Given the description of an element on the screen output the (x, y) to click on. 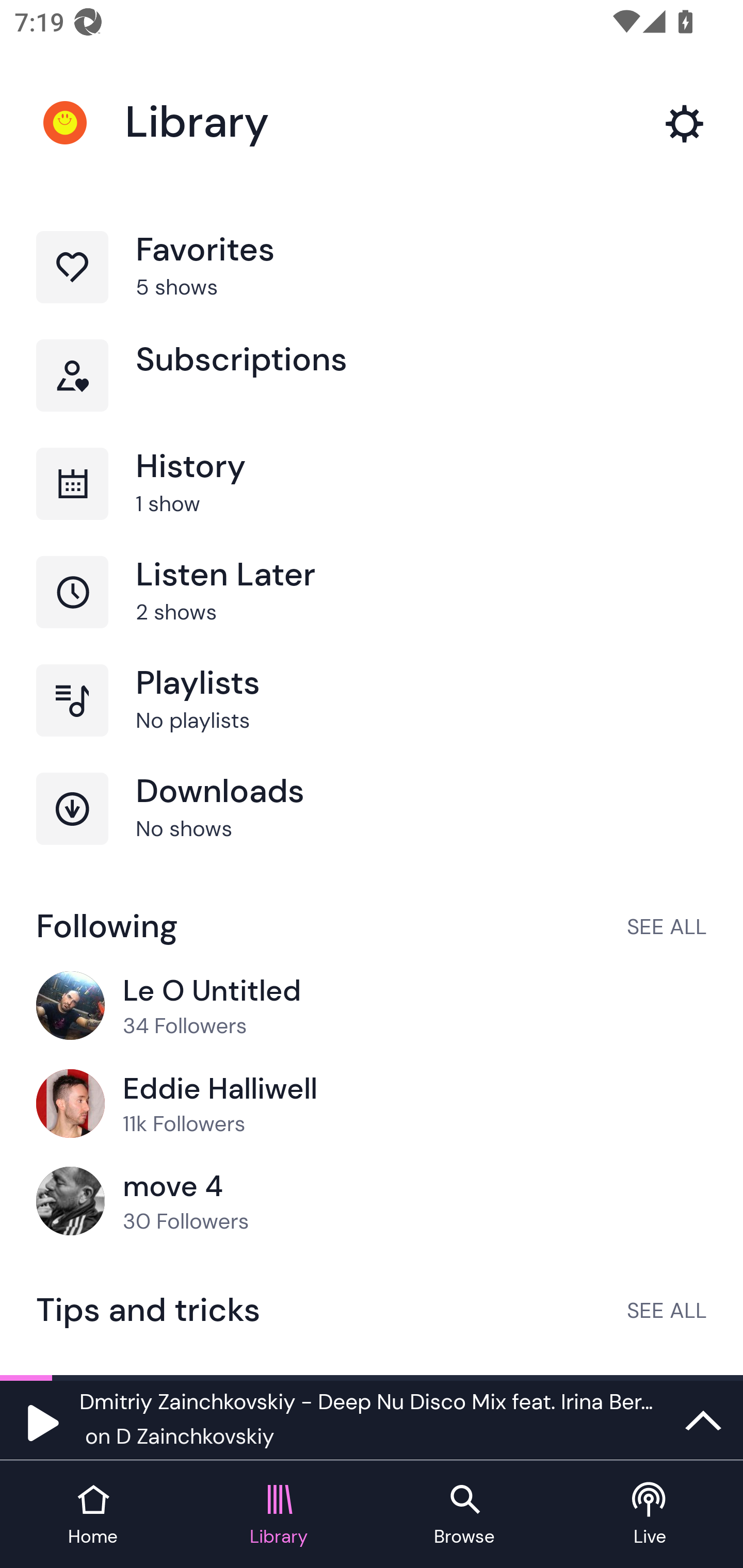
Favorites, 5 shows Favorites 5 shows (371, 284)
Subscriptions (371, 393)
History, 1 show History 1 show (371, 502)
Listen Later, 2 shows Listen Later 2 shows (371, 610)
Playlists, No playlists Playlists No playlists (371, 718)
Downloads, No shows Downloads No shows (371, 827)
SEE ALL (666, 926)
move 4, 30 Followers move 4 30 Followers (371, 1201)
SEE ALL (666, 1309)
Home tab Home (92, 1515)
Library tab Library (278, 1515)
Browse tab Browse (464, 1515)
Live tab Live (650, 1515)
